Given the description of an element on the screen output the (x, y) to click on. 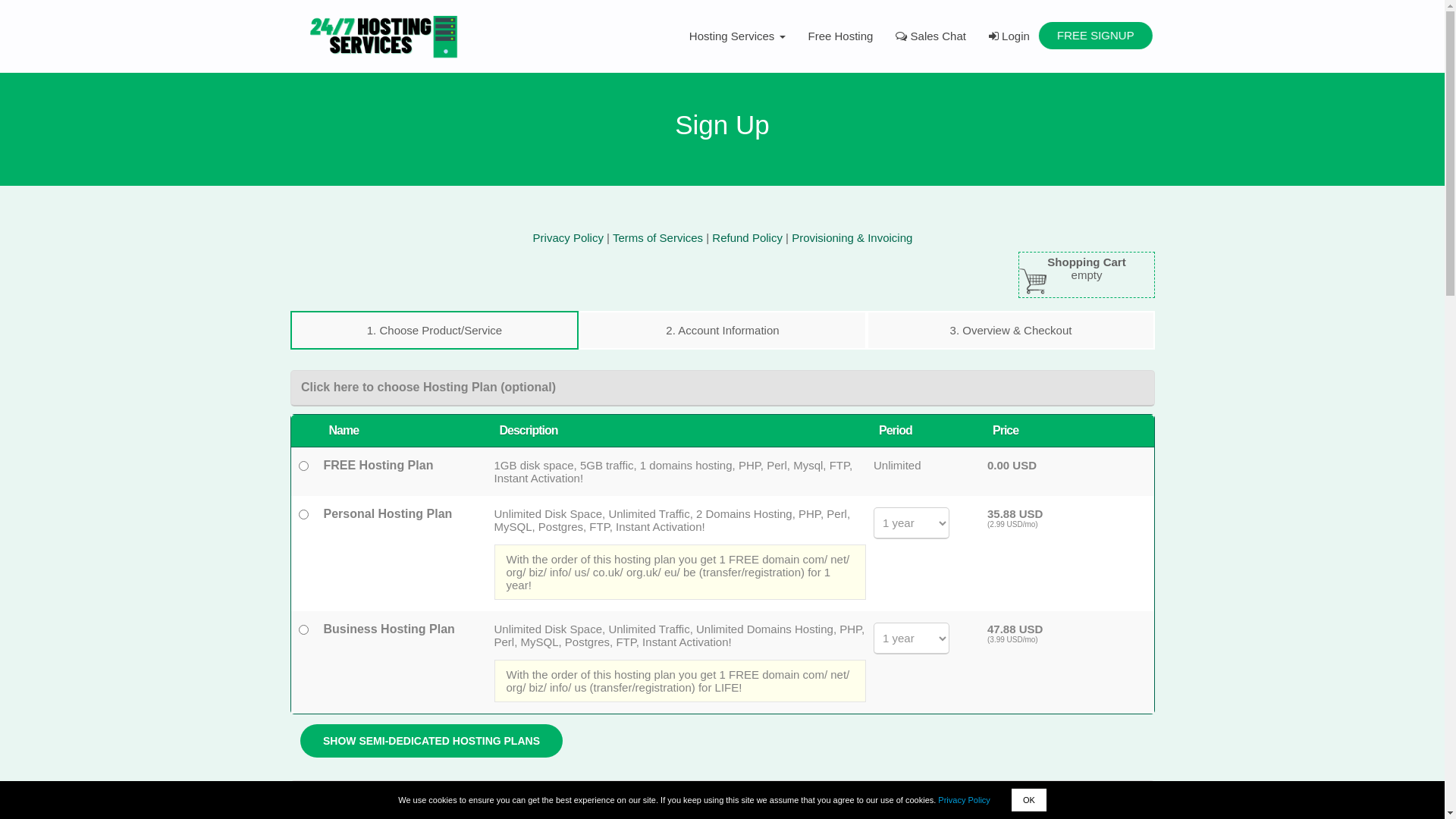
Sales Chat Element type: text (930, 36)
OK Element type: text (1028, 799)
Privacy Policy Element type: text (963, 799)
Free Hosting Element type: text (840, 36)
Hosting Services Element type: text (737, 36)
FREE SIGNUP Element type: text (1097, 35)
Login Element type: text (1009, 36)
